Given the description of an element on the screen output the (x, y) to click on. 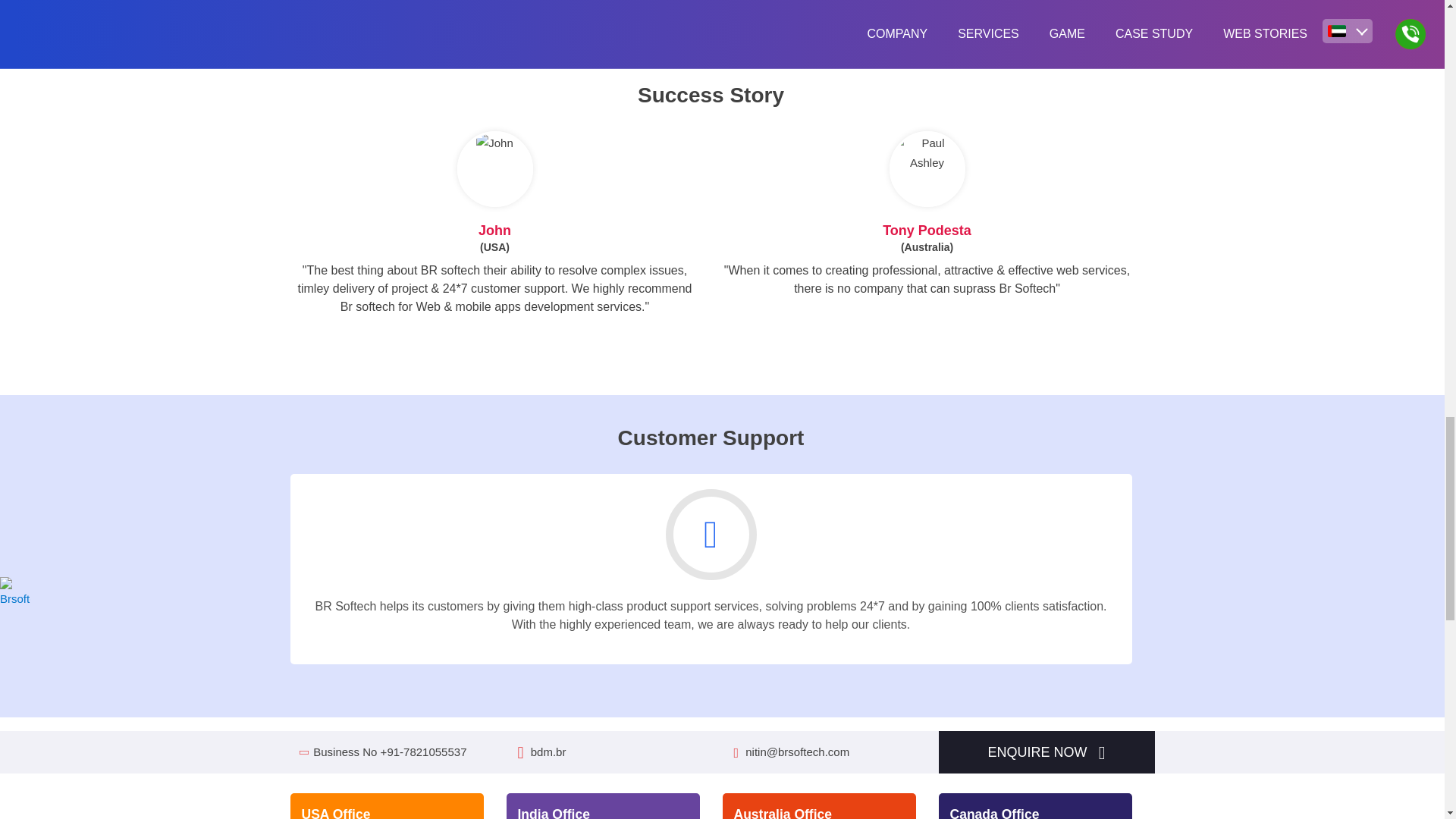
John (494, 143)
Paul Ashley (926, 152)
